Given the description of an element on the screen output the (x, y) to click on. 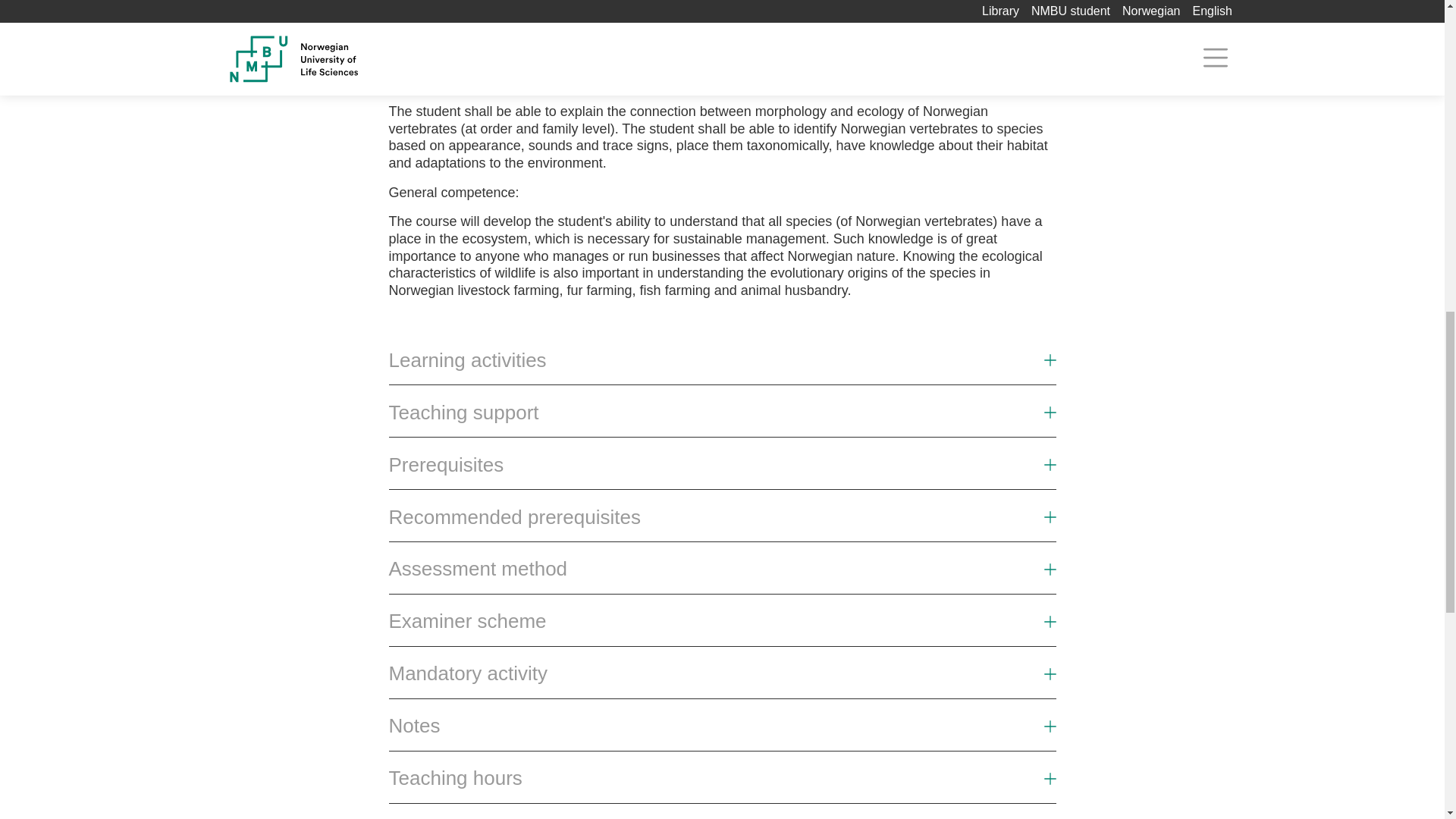
Teaching hours (721, 784)
Examiner scheme (467, 621)
Learning activities (467, 360)
Notes (413, 725)
Prerequisites (445, 464)
Teaching hours (454, 778)
Prerequisites (721, 470)
Notes (721, 732)
Recommended prerequisites (721, 523)
Assessment method (477, 568)
Mandatory activity (721, 679)
Assessment method (721, 574)
Teaching support (721, 418)
